Given the description of an element on the screen output the (x, y) to click on. 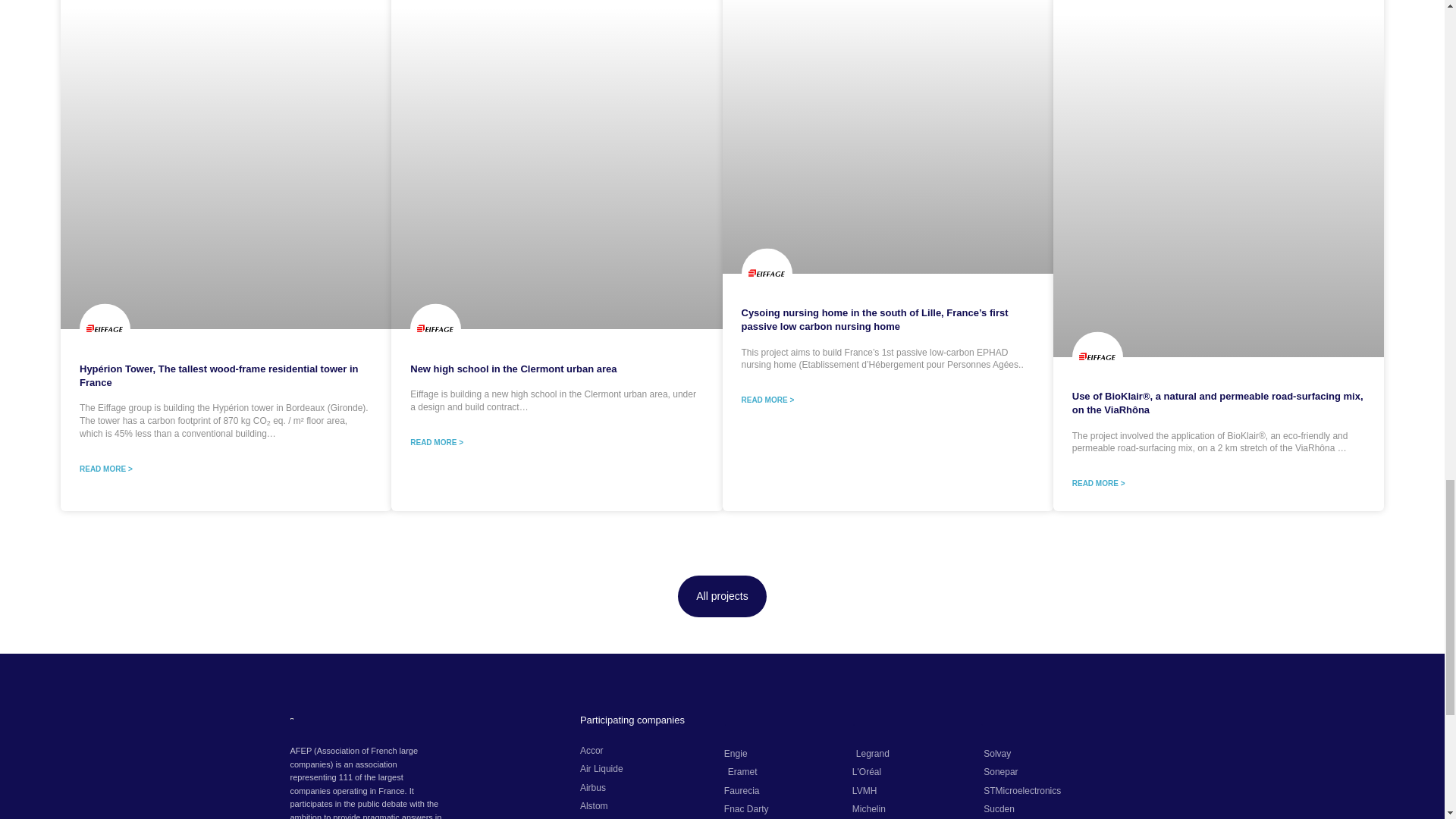
New high school in the Clermont urban area (512, 368)
All projects (721, 596)
